Given the description of an element on the screen output the (x, y) to click on. 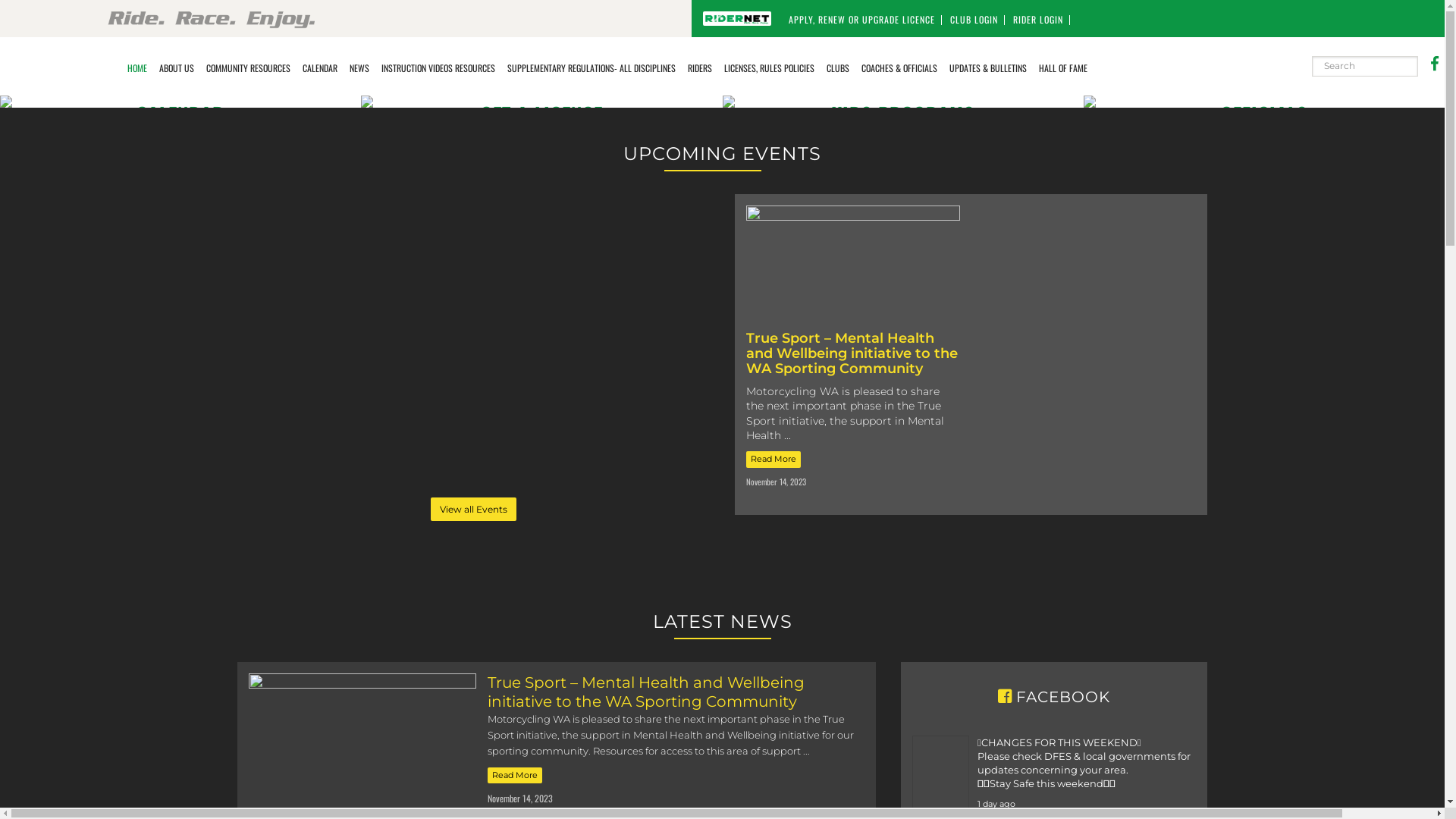
NEWS Element type: text (359, 66)
LICENSES, RULES POLICIES Element type: text (769, 66)
HOME Element type: text (137, 66)
ABOUT US Element type: text (176, 66)
Read More Element type: text (513, 775)
Skip to primary navigation Element type: text (0, 0)
APPLY, RENEW OR UPGRADE LICENCE Element type: text (861, 18)
timely-iframe-embed-0 Element type: hover (472, 345)
OFFICIALS Element type: text (1089, 100)
View all Events Element type: text (473, 508)
INSTRUCTION VIDEOS RESOURCES Element type: text (438, 66)
SUPPLEMENTARY REGULATIONS- ALL DISCIPLINES Element type: text (591, 66)
CLUB LOGIN Element type: text (973, 18)
CALENDAR Element type: text (6, 100)
Read More Element type: text (773, 459)
RIDER LOGIN Element type: text (1038, 18)
RIDERS Element type: text (699, 66)
CALENDAR Element type: text (319, 66)
Focus Button Element type: text (276, 205)
KIDS PROGRAMS Element type: text (727, 100)
HALL OF FAME Element type: text (1062, 66)
COACHES & OFFICIALS Element type: text (899, 66)
UPDATES & BULLETINS Element type: text (987, 66)
CLUBS Element type: text (837, 66)
Motorcycling WA Element type: text (54, 43)
GET A LICENCE Element type: text (366, 100)
COMMUNITY RESOURCES Element type: text (248, 66)
Search Element type: text (1417, 55)
